Given the description of an element on the screen output the (x, y) to click on. 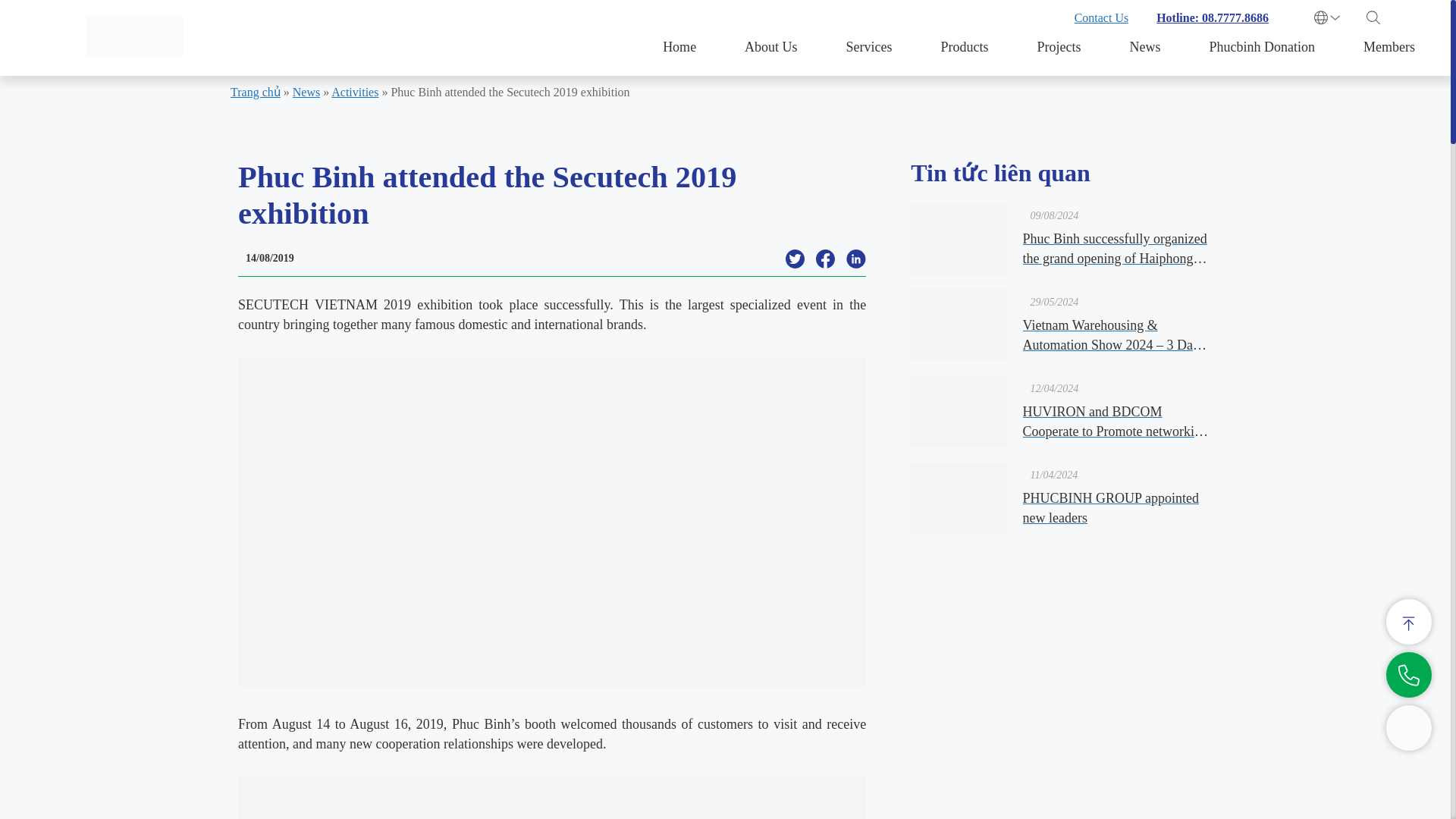
Scroll back to top (1408, 621)
Phucbinh Donation (1262, 46)
Services (868, 46)
Projects (1058, 46)
Home (678, 46)
Hotline: 08.7777.8686 (1212, 17)
